Given the description of an element on the screen output the (x, y) to click on. 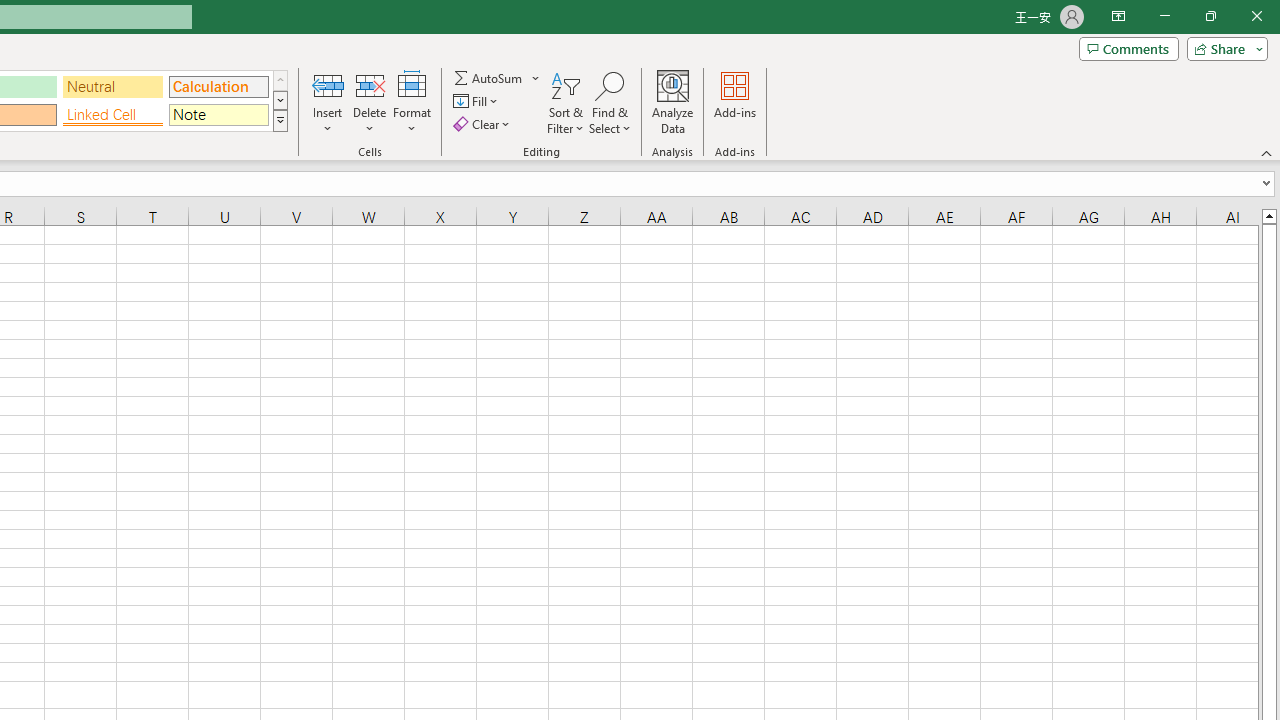
Find & Select (610, 102)
Neutral (113, 86)
Restore Down (1210, 16)
AutoSum (497, 78)
Calculation (218, 86)
Clear (483, 124)
Ribbon Display Options (1118, 16)
Linked Cell (113, 114)
Format (411, 102)
Line up (1268, 215)
Class: NetUIImage (280, 120)
Row Down (280, 100)
Cell Styles (280, 120)
Insert (328, 102)
Comments (1128, 48)
